Given the description of an element on the screen output the (x, y) to click on. 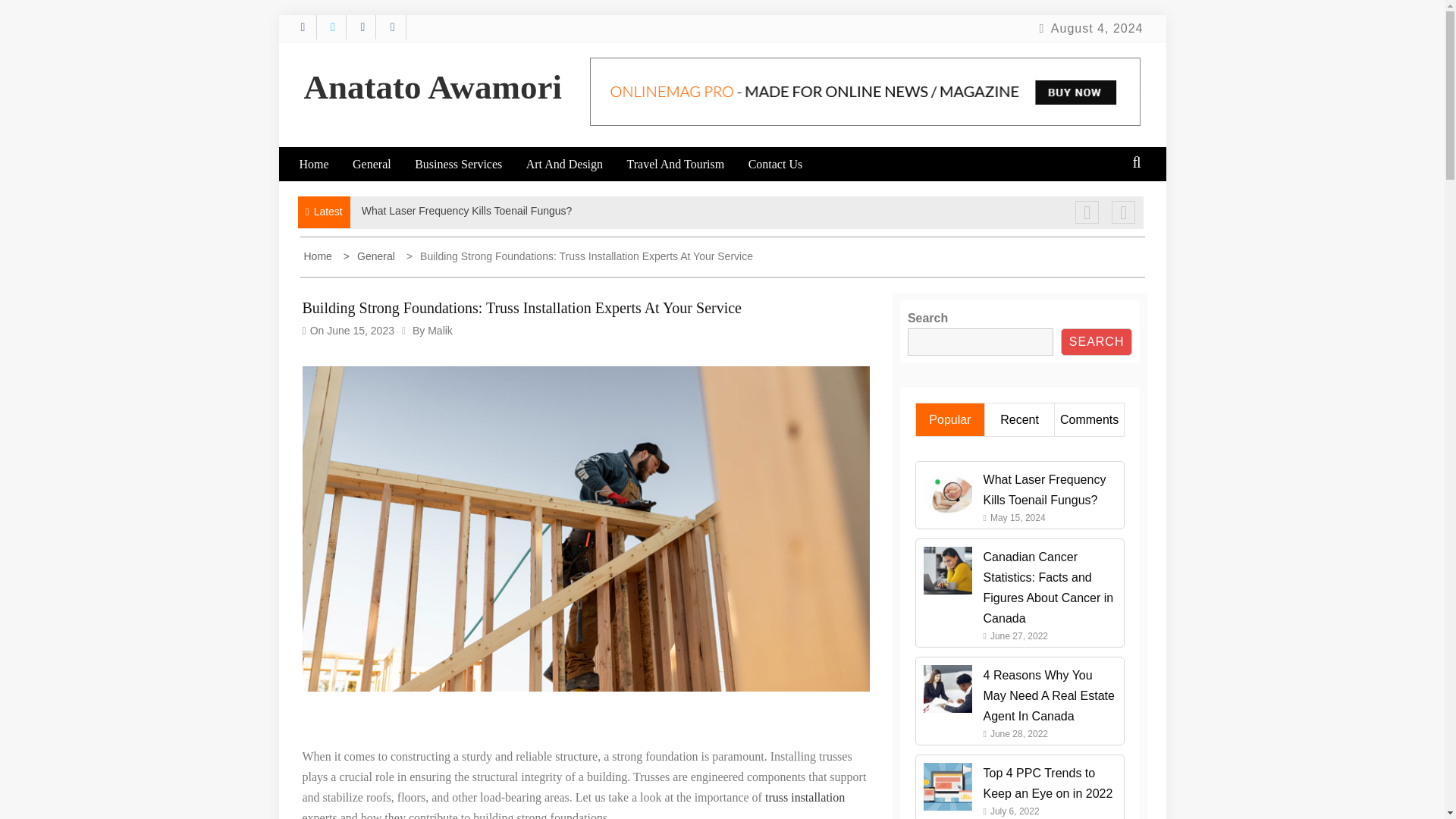
Travel And Tourism (685, 163)
Home (318, 256)
General (370, 256)
Recent (1019, 419)
truss installation (804, 797)
What Laser Frequency Kills Toenail Fungus? (466, 210)
SEARCH (1096, 341)
General (382, 163)
Contact Us (786, 163)
June 15, 2023 (360, 330)
Anatato Awamori (431, 86)
Popular (949, 419)
Home (323, 163)
Art And Design (574, 163)
Business Services (468, 163)
